Given the description of an element on the screen output the (x, y) to click on. 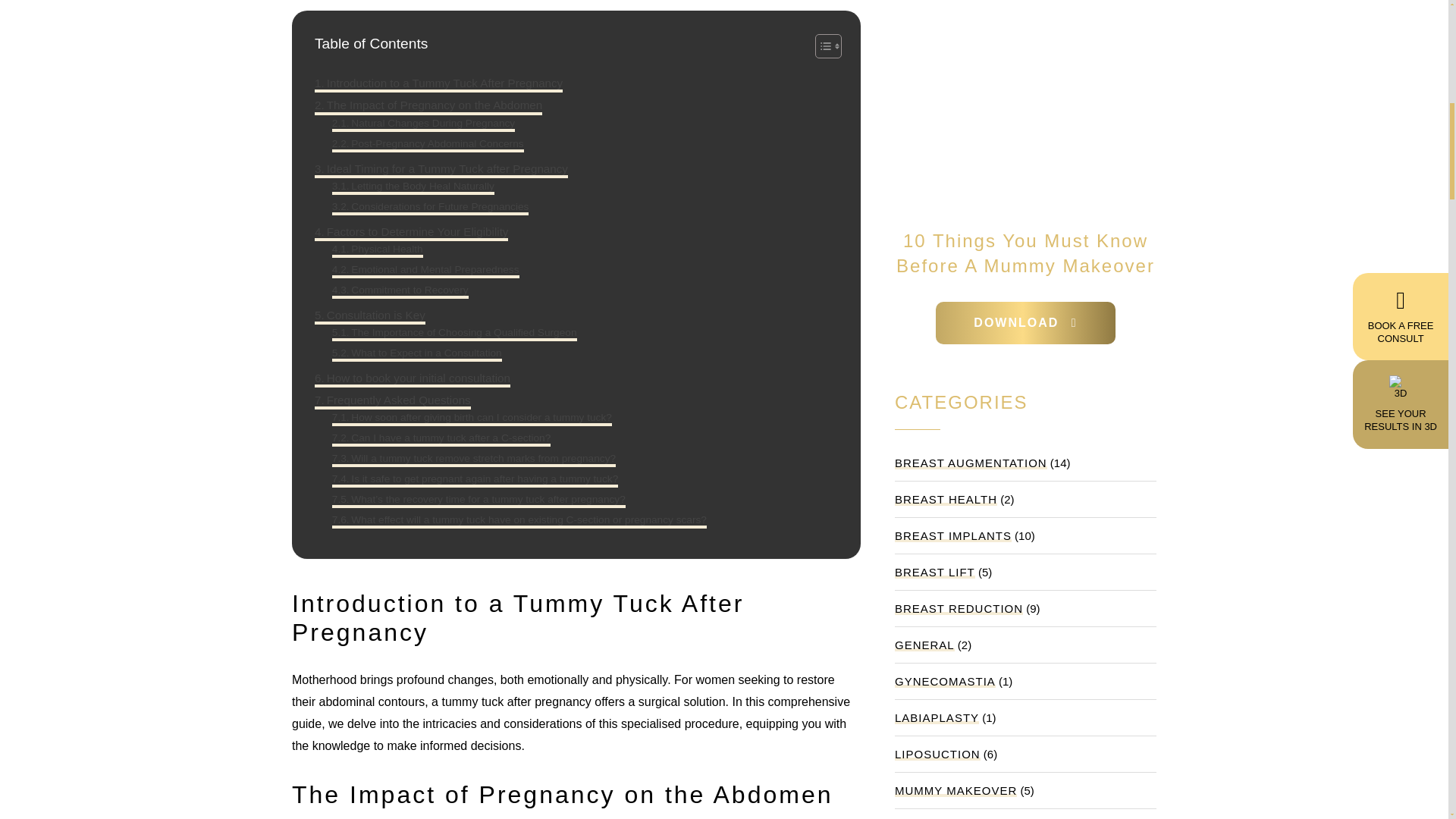
Introduction to a Tummy Tuck After Pregnancy (438, 83)
Letting the Body Heal Naturally (413, 186)
Considerations for Future Pregnancies (430, 207)
How soon after giving birth can I consider a tummy tuck? (471, 417)
Post-Pregnancy Abdominal Concerns (427, 143)
The Impact of Pregnancy on the Abdomen (427, 105)
Commitment to Recovery (399, 289)
Emotional and Mental Preparedness (425, 269)
Factors to Determine Your Eligibility (411, 231)
The Importance of Choosing a Qualified Surgeon (453, 332)
